Given the description of an element on the screen output the (x, y) to click on. 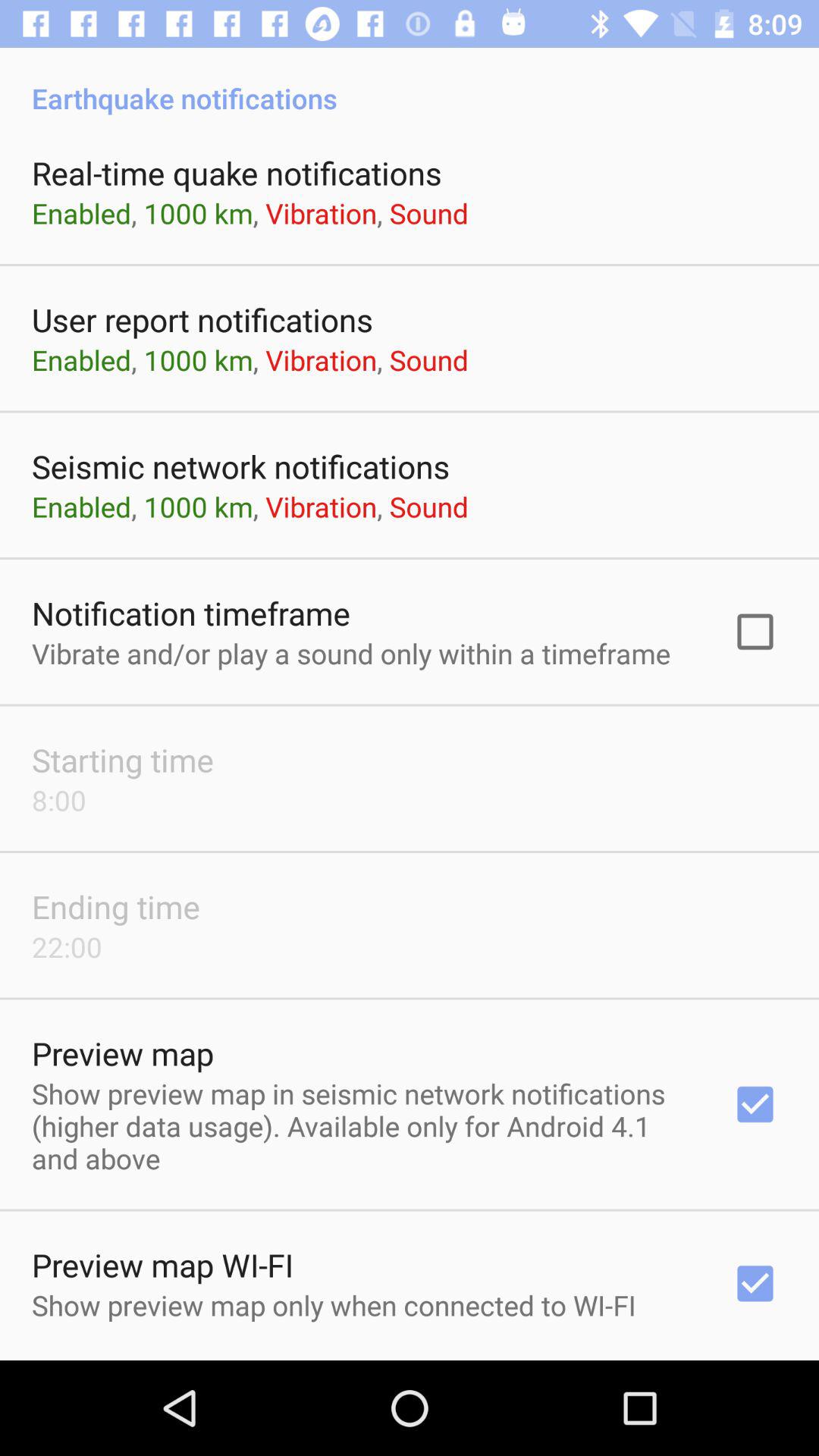
press the starting time item (122, 759)
